Given the description of an element on the screen output the (x, y) to click on. 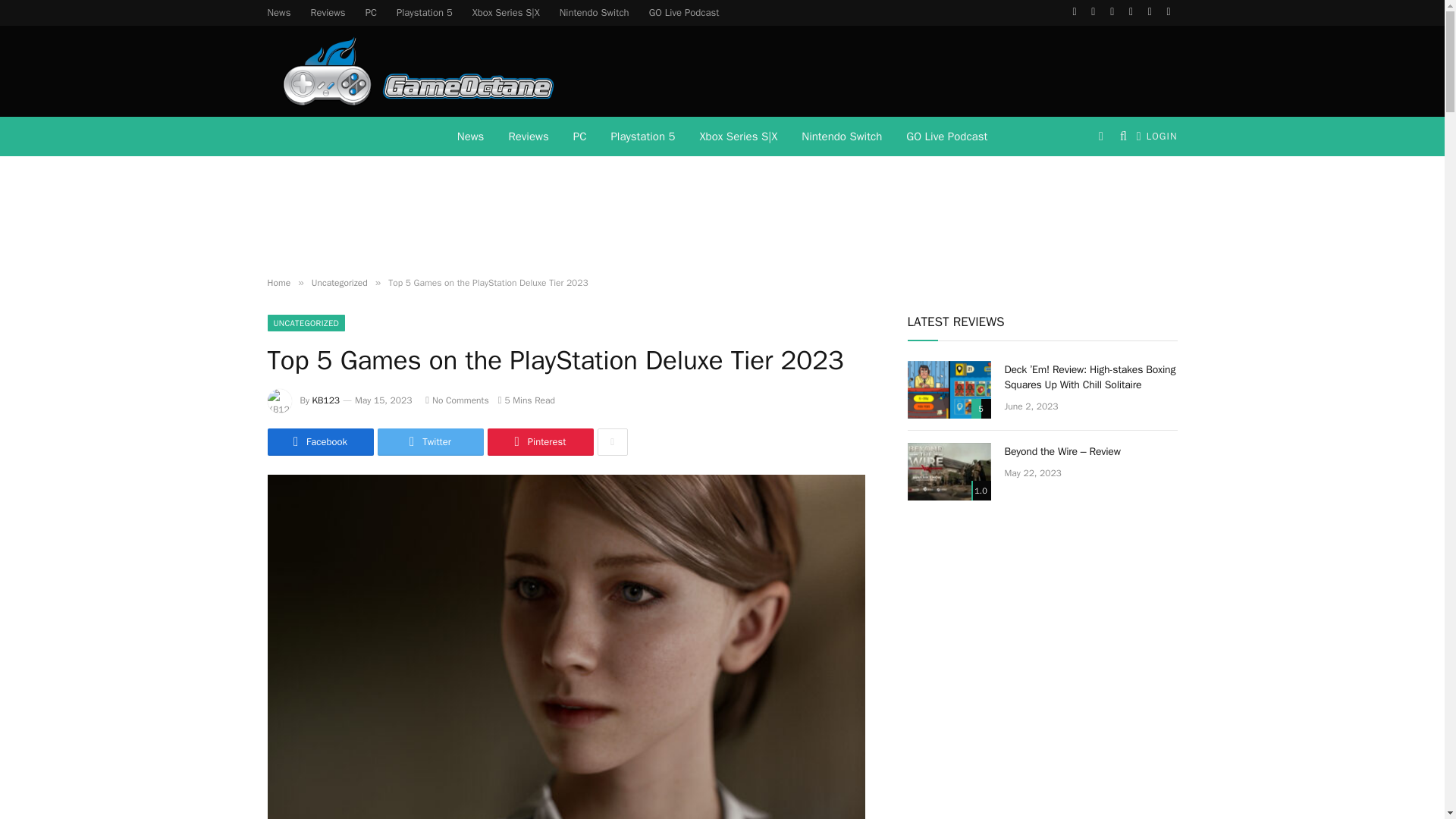
Nintendo Switch (594, 12)
News (279, 12)
News (470, 136)
GameOctane (411, 71)
Switch to Dark Design - easier on eyes. (1100, 136)
Posts by KB123 (326, 399)
GO Live Podcast (945, 136)
LOGIN (1157, 136)
GO Live Podcast (684, 12)
Share on Pinterest (539, 441)
PC (371, 12)
Playstation 5 (425, 12)
Nintendo Switch (841, 136)
PC (579, 136)
Reviews (327, 12)
